Given the description of an element on the screen output the (x, y) to click on. 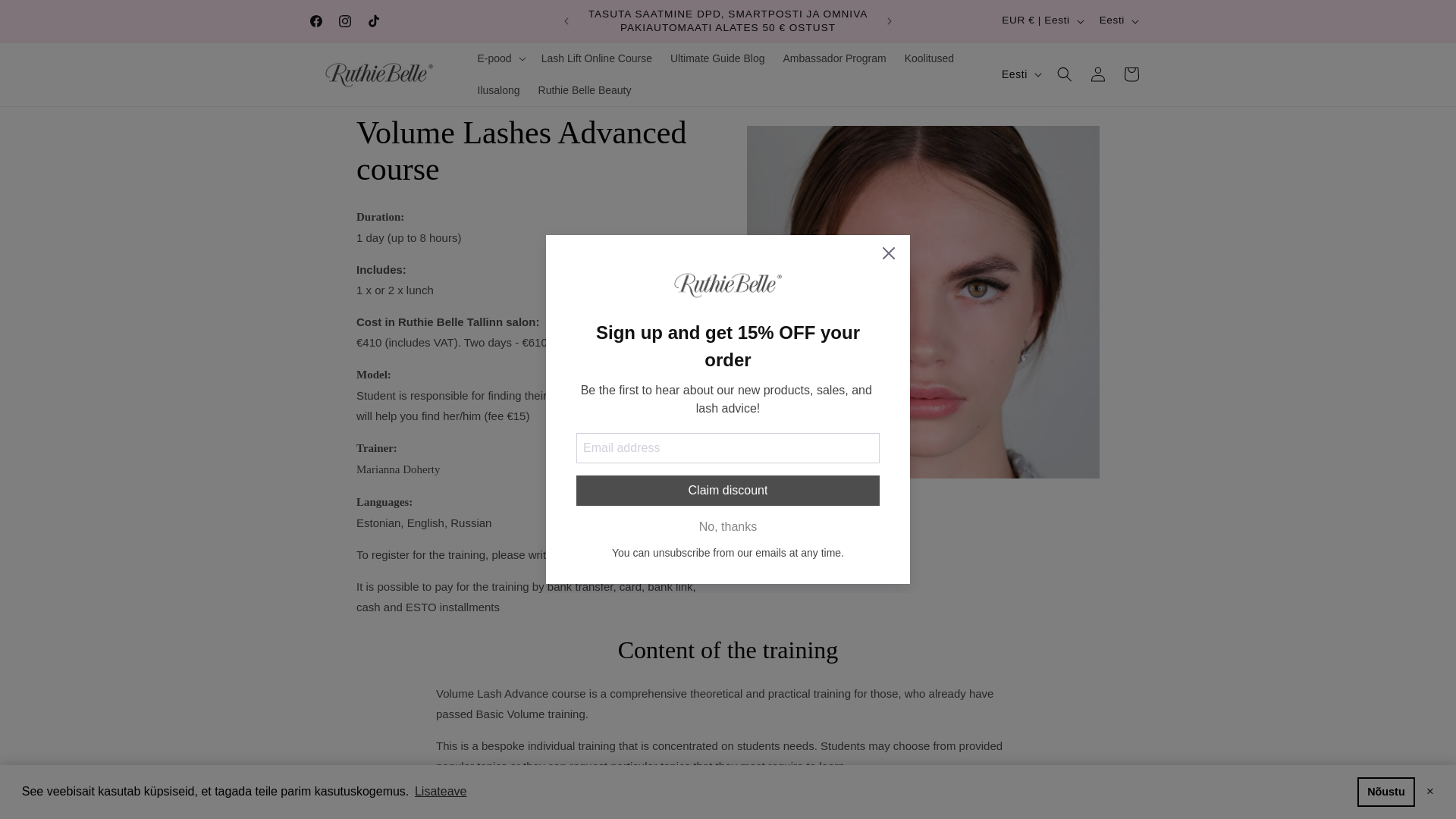
Sisu juurde (45, 17)
Facebook (315, 21)
TikTok (373, 21)
Eesti (1117, 21)
Instagram (344, 21)
Lisateave (440, 791)
